Given the description of an element on the screen output the (x, y) to click on. 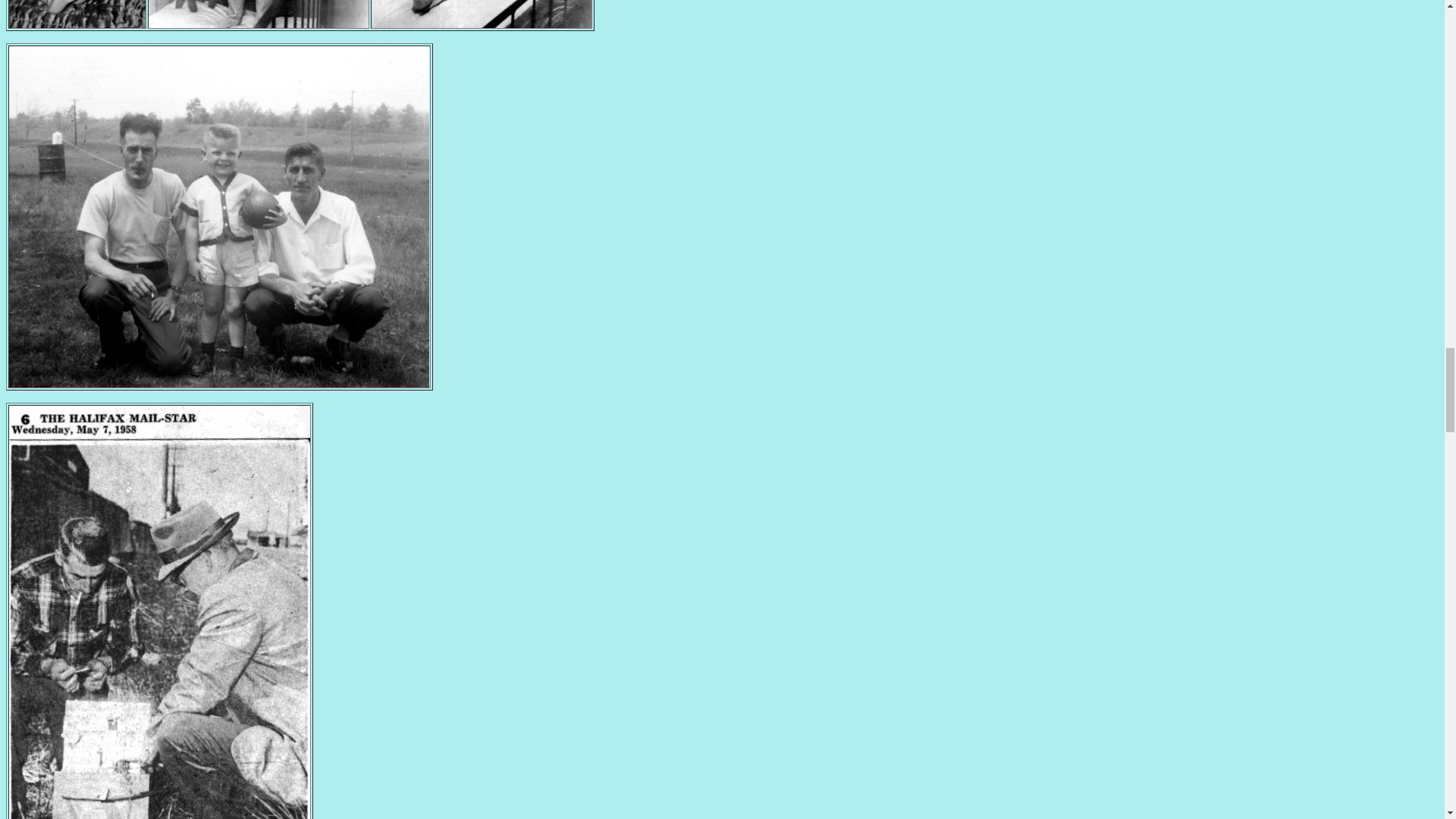
Leslie. (481, 23)
Leslie. (76, 23)
Leslie. (258, 23)
